Given the description of an element on the screen output the (x, y) to click on. 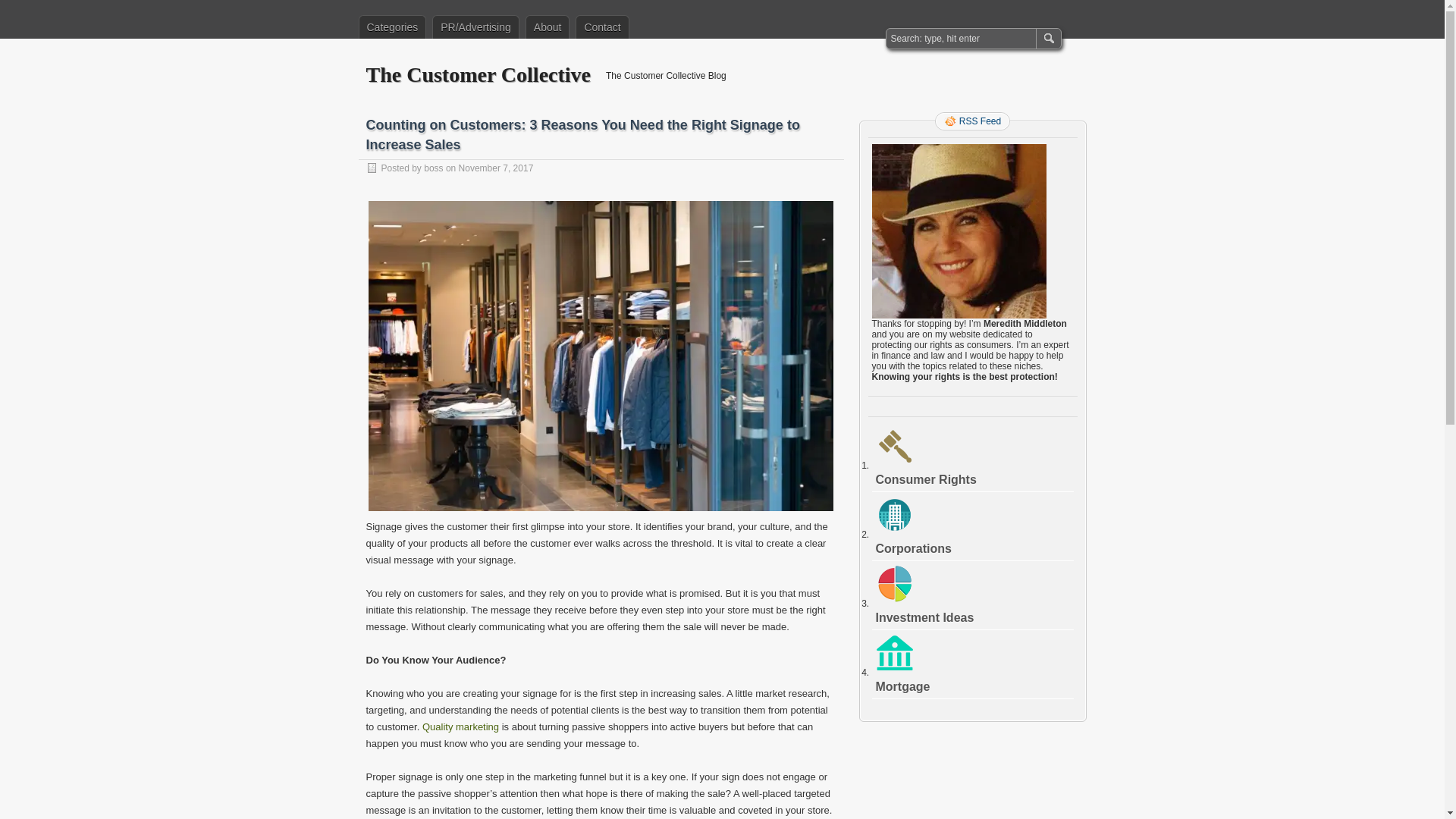
RSS Feed (972, 120)
Consumer Rights (925, 479)
Contact (601, 26)
SEARCH (1047, 38)
boss (432, 167)
The Customer Collective (478, 74)
Search: type, hit enter (962, 38)
View all posts by boss (432, 167)
Quality marketing (460, 726)
Categories (392, 26)
SEARCH (1047, 38)
About (547, 26)
RSS Feed (972, 120)
